Given the description of an element on the screen output the (x, y) to click on. 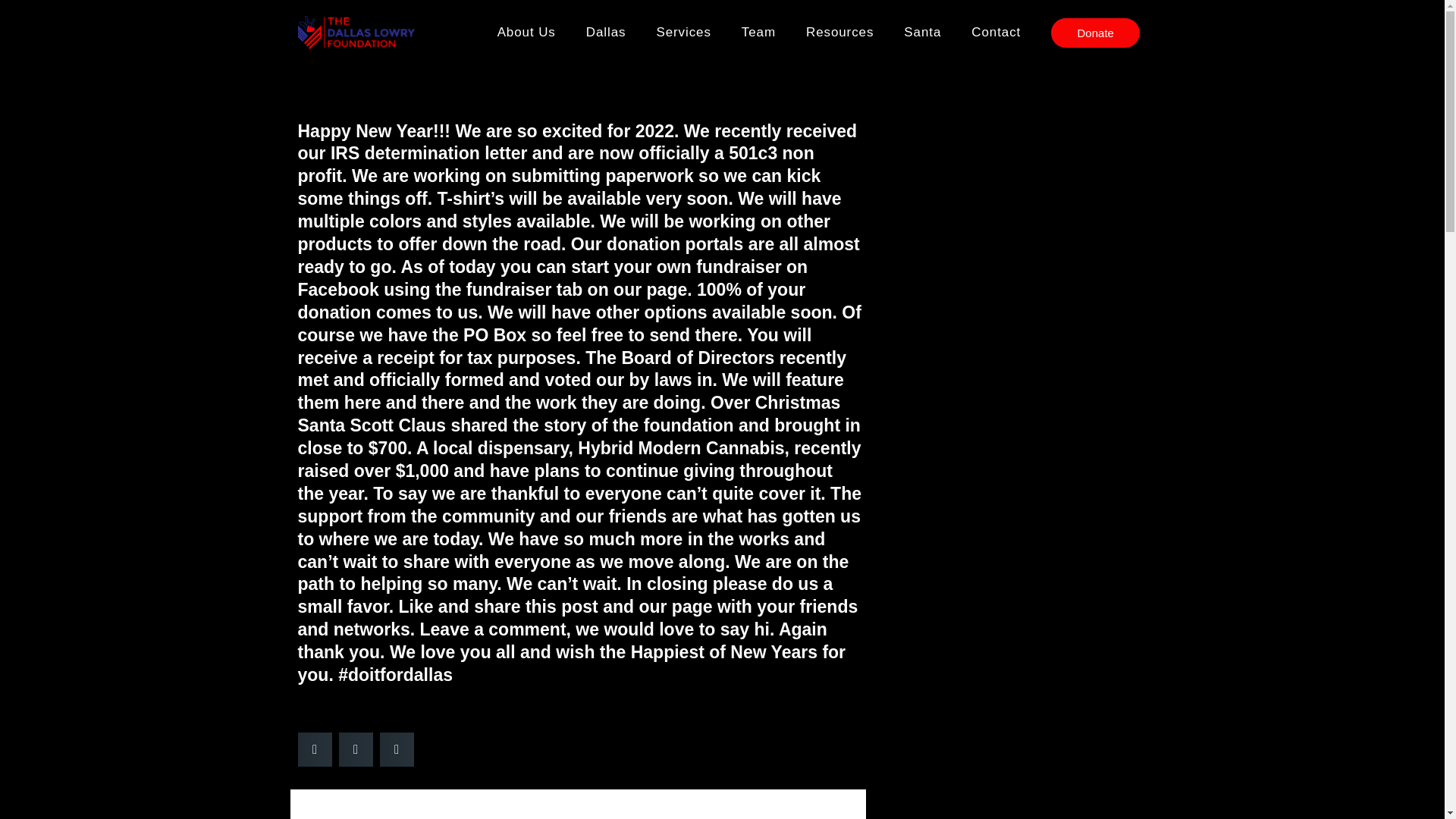
Donate (1095, 32)
Team (758, 32)
Resources (839, 32)
Services (682, 32)
Uncategorized (773, 38)
Dallas (606, 32)
About Us (525, 32)
Santa (922, 32)
Contact (995, 32)
